Given the description of an element on the screen output the (x, y) to click on. 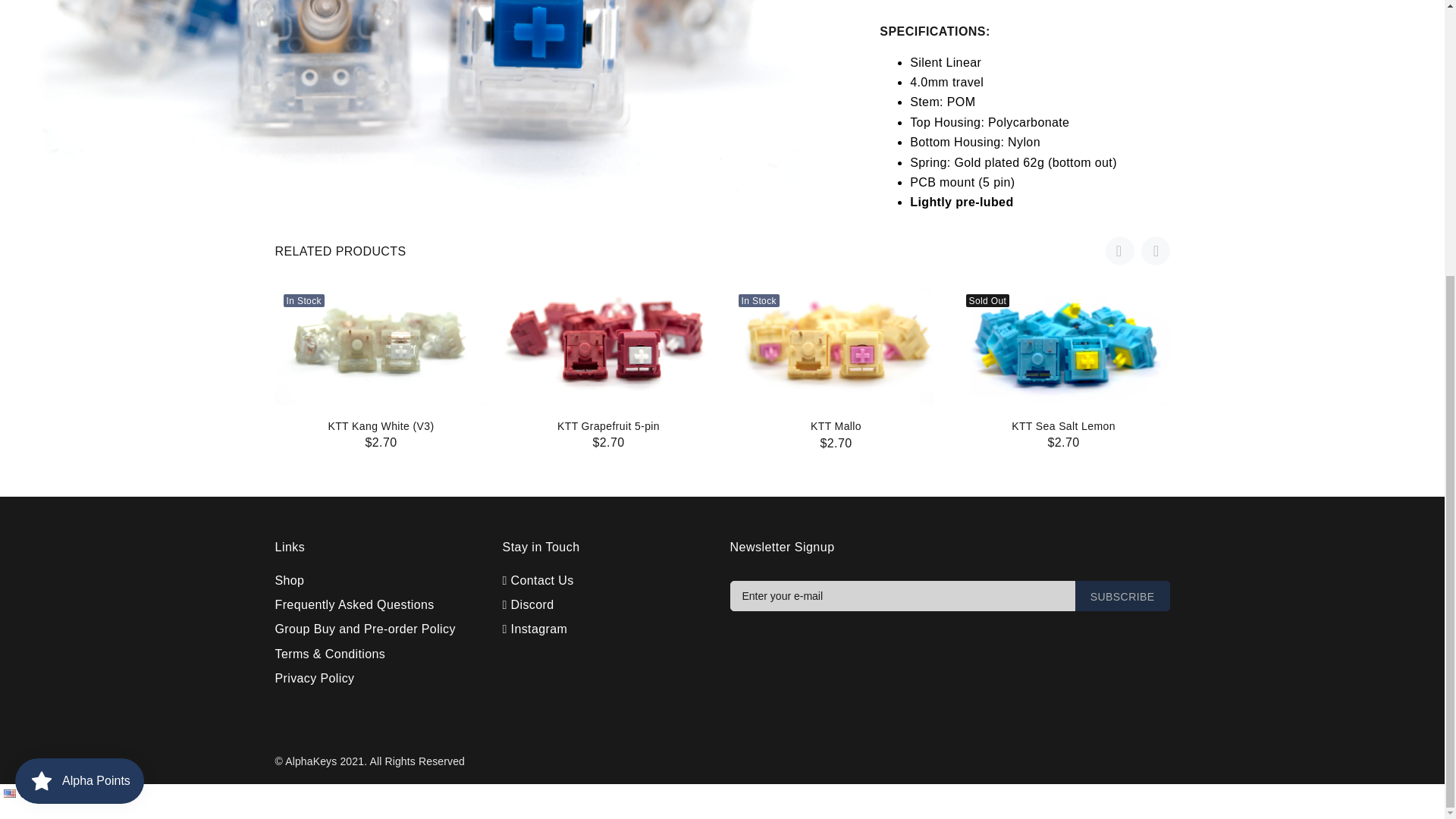
Smile.io Rewards Program Launcher (79, 372)
